Given the description of an element on the screen output the (x, y) to click on. 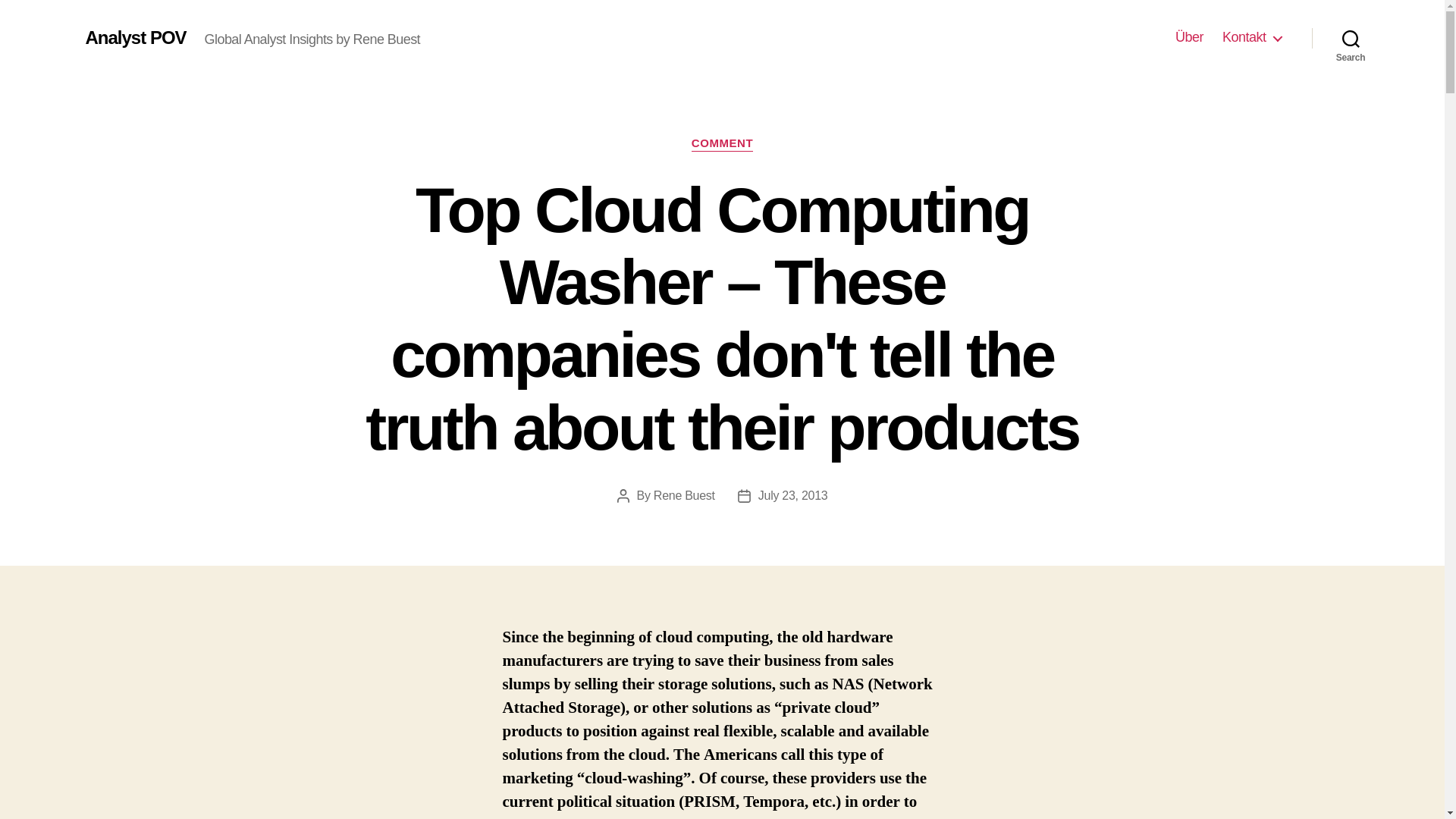
Rene Buest (683, 495)
July 23, 2013 (793, 495)
Search (1350, 37)
Kontakt (1252, 37)
Analyst POV (135, 37)
COMMENT (721, 143)
